Given the description of an element on the screen output the (x, y) to click on. 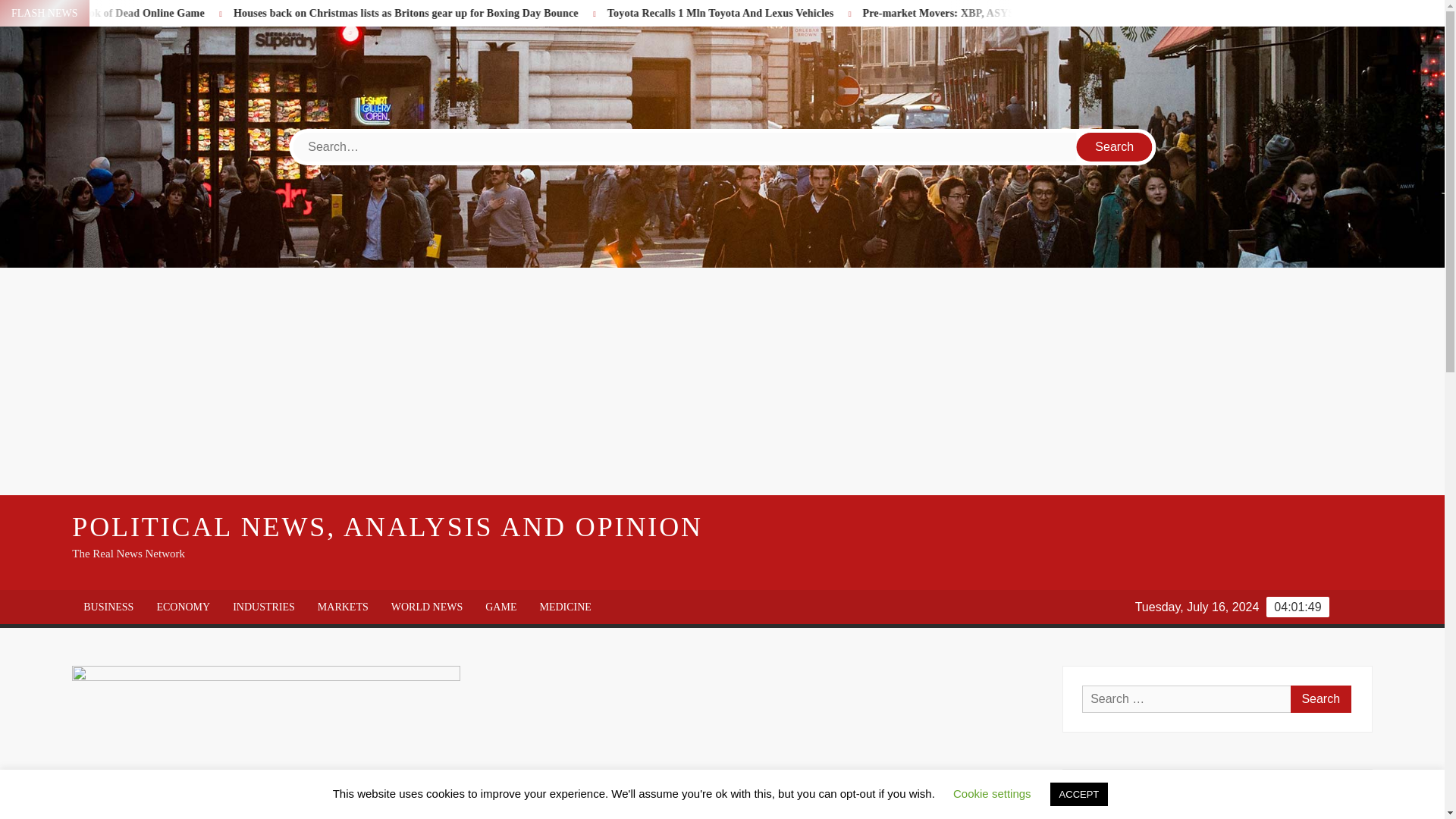
GAME (500, 606)
Toyota Recalls 1 Mln Toyota And Lexus Vehicles (830, 12)
POLITICAL NEWS, ANALYSIS AND OPINION (387, 526)
Search (1320, 698)
Search (1115, 146)
BUSINESS (107, 606)
Search (1115, 146)
Toyota Recalls 1 Mln Toyota And Lexus Vehicles (887, 12)
MARKETS (342, 606)
INDUSTRIES (263, 606)
MEDICINE (564, 606)
WORLD NEWS (427, 606)
Search (1115, 146)
